Given the description of an element on the screen output the (x, y) to click on. 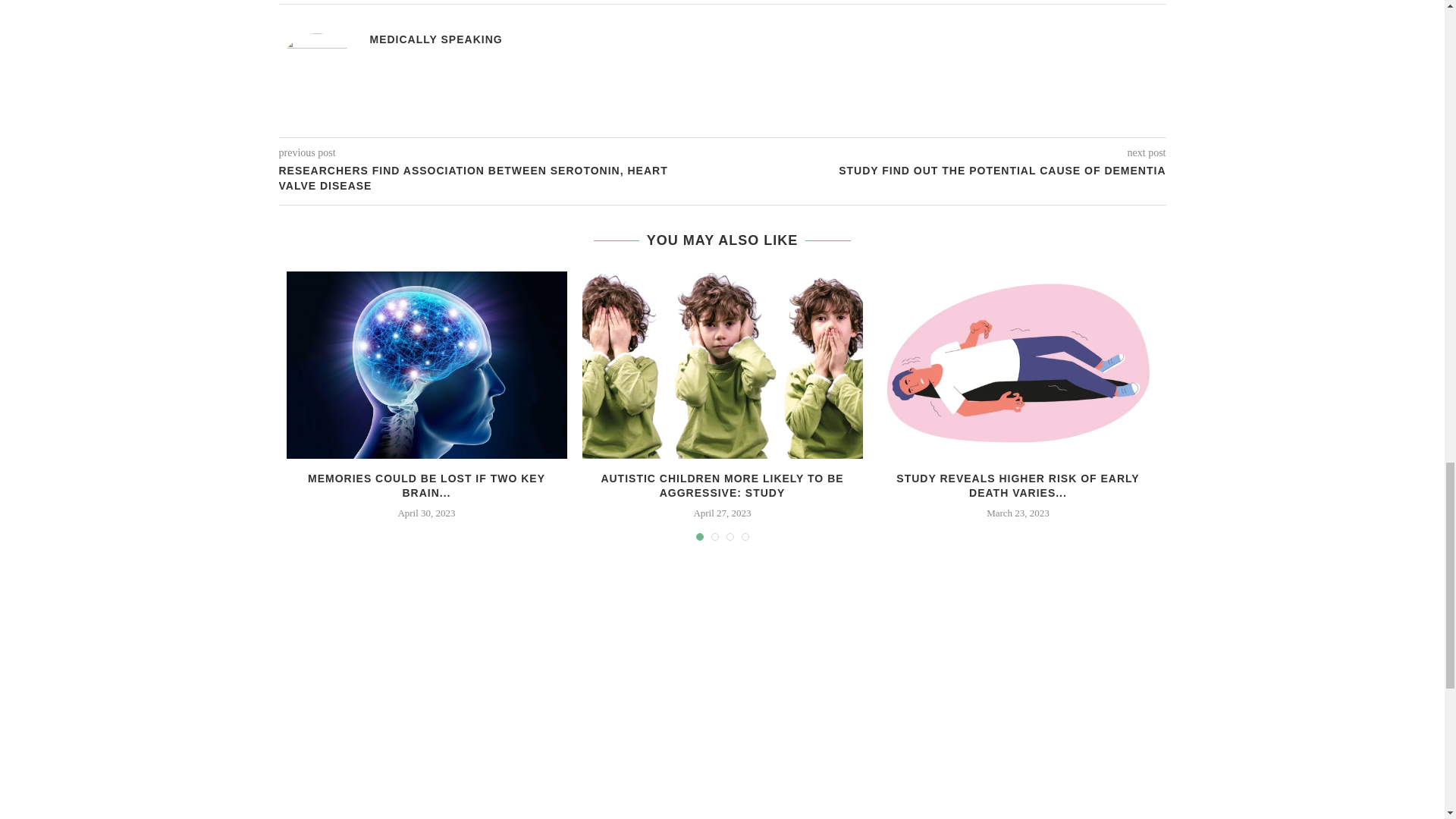
MEDICALLY SPEAKING (435, 39)
Author Medically Speaking (435, 39)
Autistic children more likely to be aggressive: Study (722, 364)
